Given the description of an element on the screen output the (x, y) to click on. 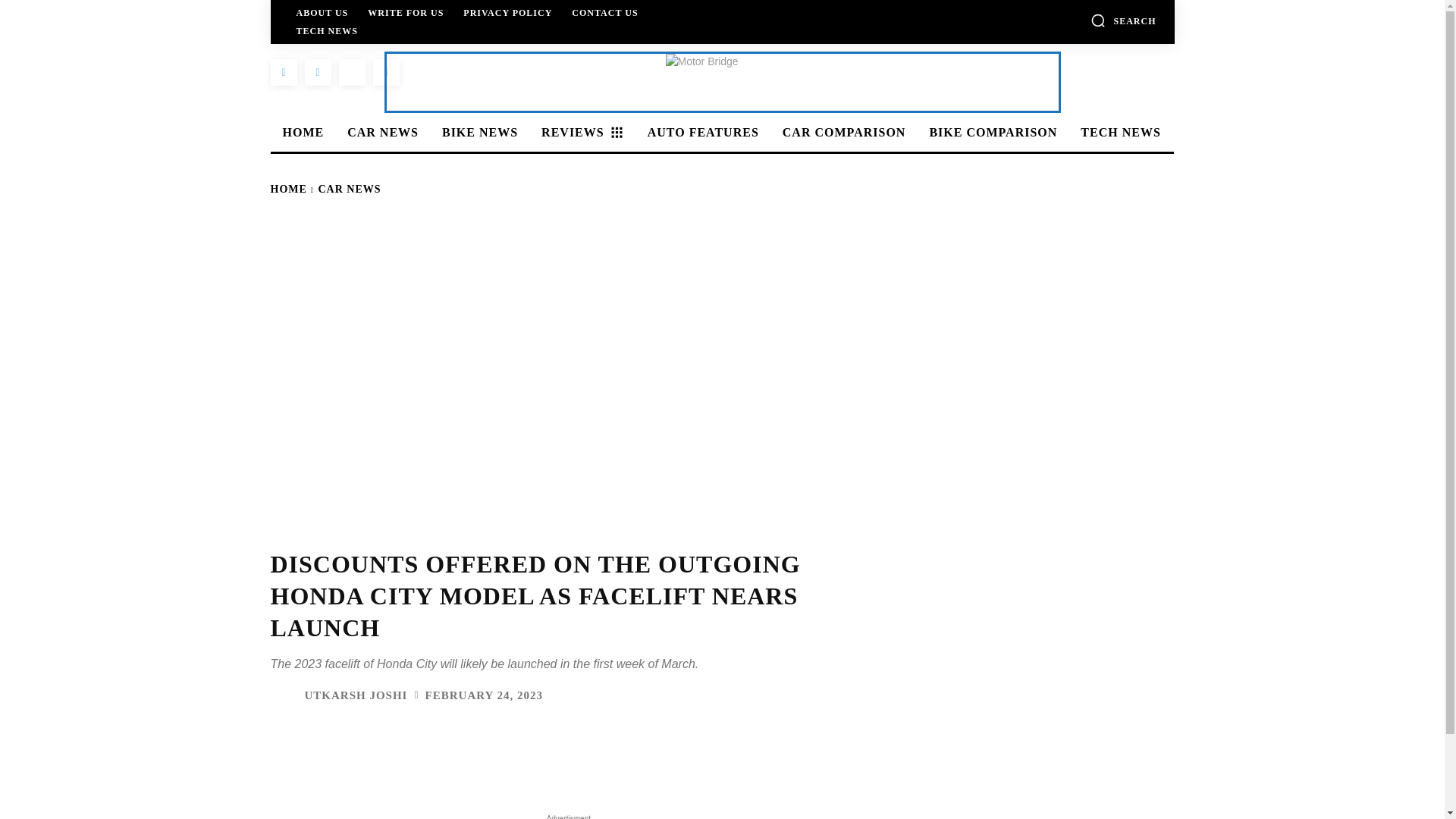
ABOUT US (321, 12)
WRITE FOR US (405, 12)
CAR COMPARISON (842, 132)
Motor Bridge (721, 82)
REVIEWS (580, 132)
AUTO FEATURES (700, 132)
TECH NEWS (1117, 132)
Motor Bridge (722, 82)
CAR NEWS (380, 132)
BIKE COMPARISON (990, 132)
SEARCH (1123, 20)
HOME (300, 132)
Facebook (283, 71)
PRIVACY POLICY (507, 12)
CONTACT US (604, 12)
